Given the description of an element on the screen output the (x, y) to click on. 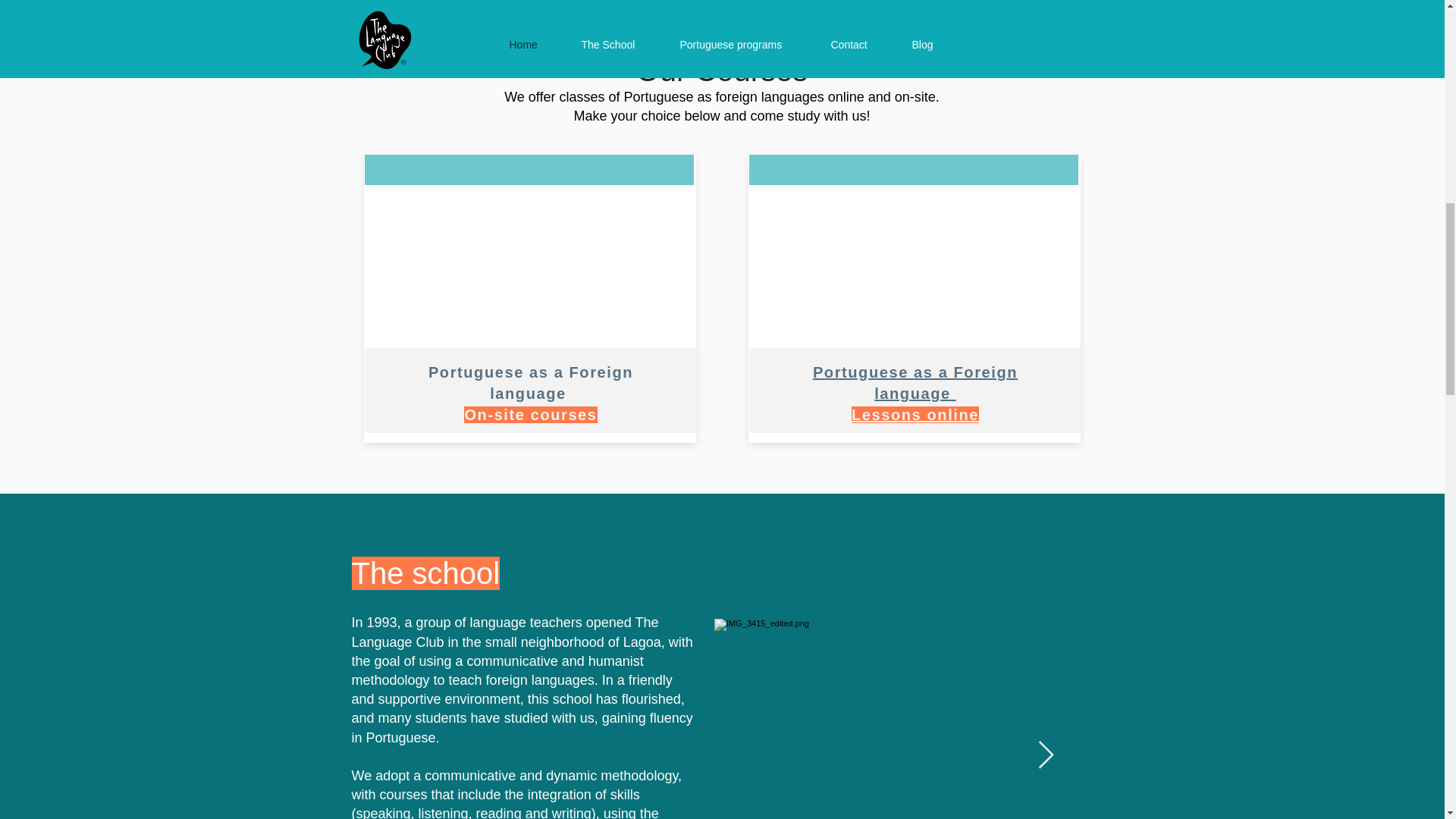
Portuguese as a Foreign language  (914, 382)
Lessons online (914, 414)
Portuguese as a Foreign language  (530, 382)
On-site courses (530, 414)
